Given the description of an element on the screen output the (x, y) to click on. 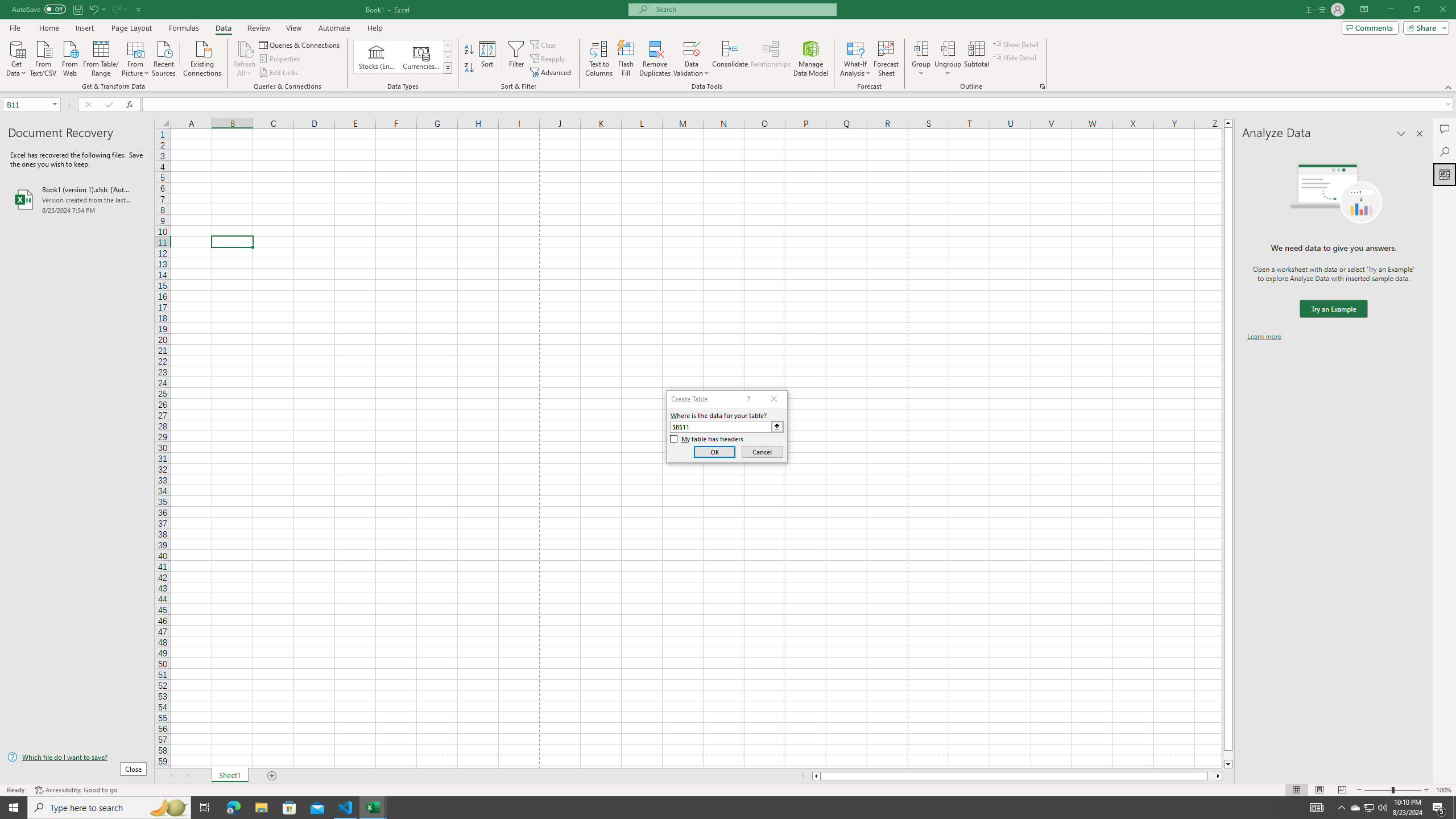
AutoSave (38, 9)
Sort Z to A (469, 67)
AutomationID: ConvertToLinkedEntity (403, 56)
Close pane (1419, 133)
Subtotal (976, 58)
Text to Columns... (598, 58)
Properties (280, 58)
Class: NetUIImage (447, 68)
Row up (448, 45)
Book1 (version 1).xlsb  [AutoRecovered] (77, 199)
Comments (1369, 27)
Formulas (184, 28)
Scroll Right (187, 775)
Minimize (1390, 9)
Class: NetUIScrollBar (1016, 775)
